Given the description of an element on the screen output the (x, y) to click on. 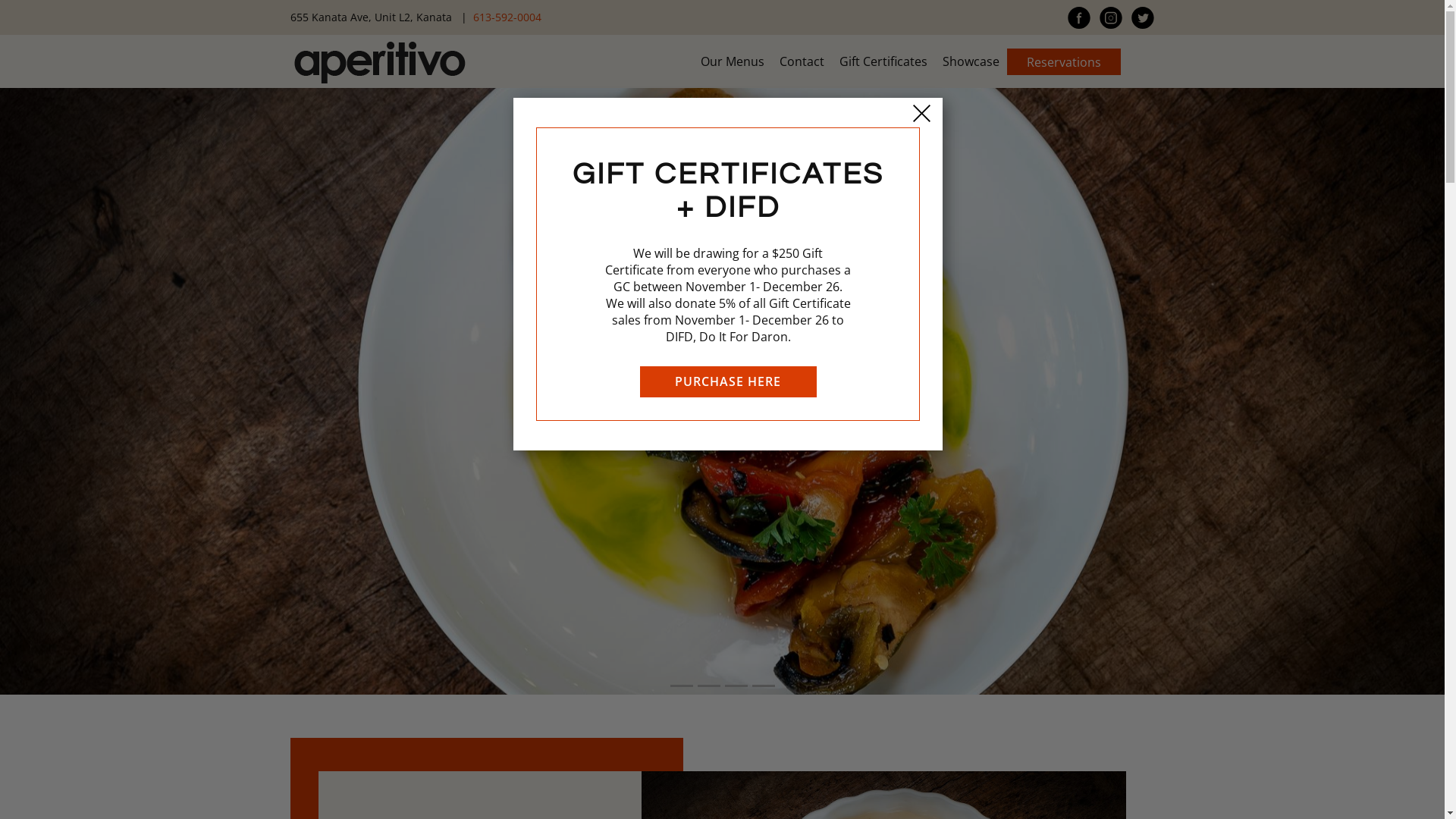
Our Menus Element type: text (732, 61)
PURCHASE HERE Element type: text (728, 381)
twitter Element type: hover (1141, 17)
facebook Element type: hover (1078, 17)
Reservations Element type: text (1063, 61)
Showcase Element type: text (970, 61)
instagram Element type: hover (1110, 17)
613-592-0004 Element type: text (507, 16)
Gift Certificates Element type: text (882, 61)
Contact Element type: text (801, 61)
